Given the description of an element on the screen output the (x, y) to click on. 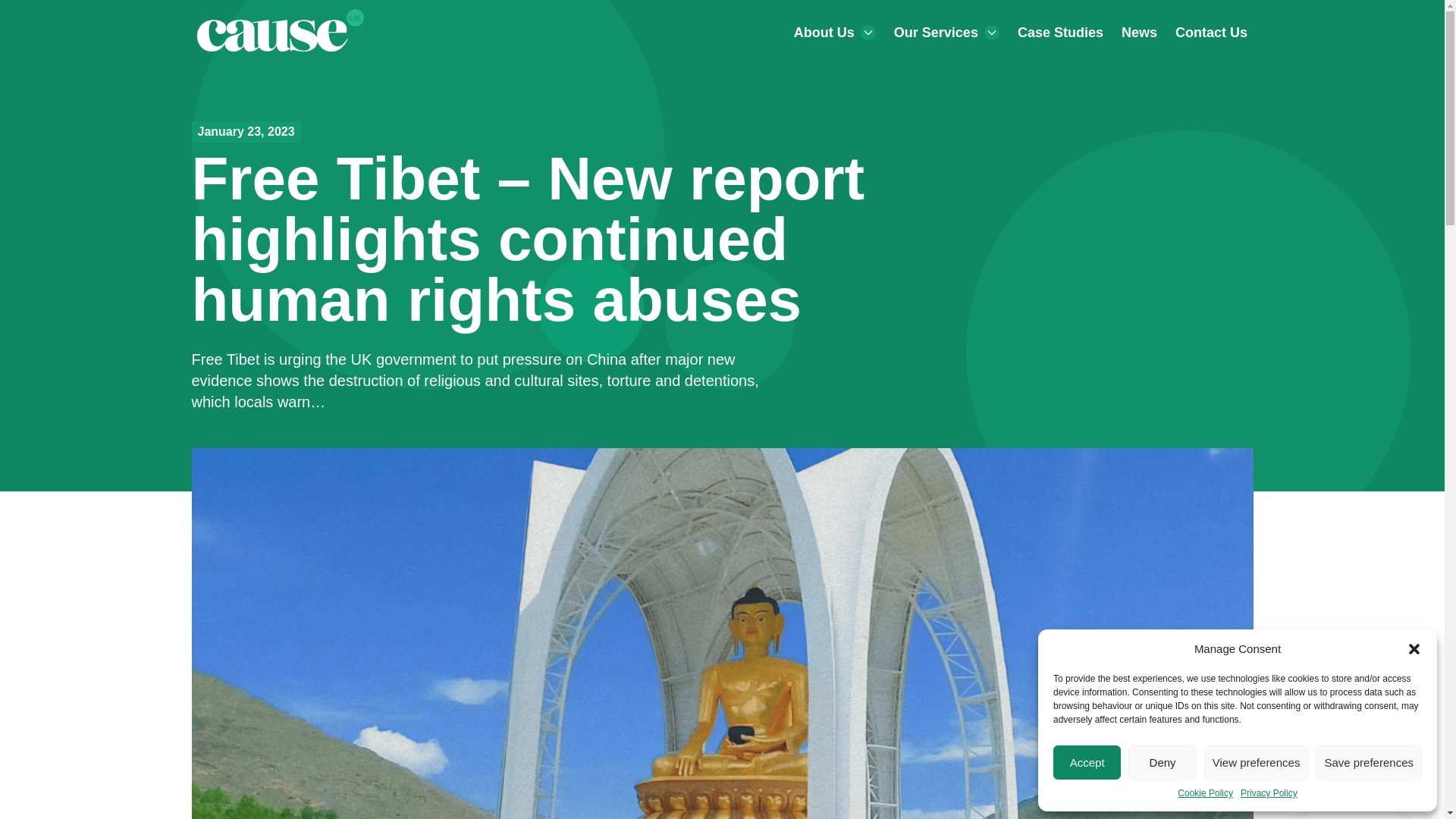
Save preferences (1369, 762)
Cookie Policy (1205, 793)
News (1139, 32)
Privacy Policy (1268, 793)
Deny (1161, 762)
Contact Us (1211, 32)
View preferences (1256, 762)
About Us (834, 32)
Our Services (947, 32)
Accept (1086, 762)
Case Studies (1060, 32)
